Given the description of an element on the screen output the (x, y) to click on. 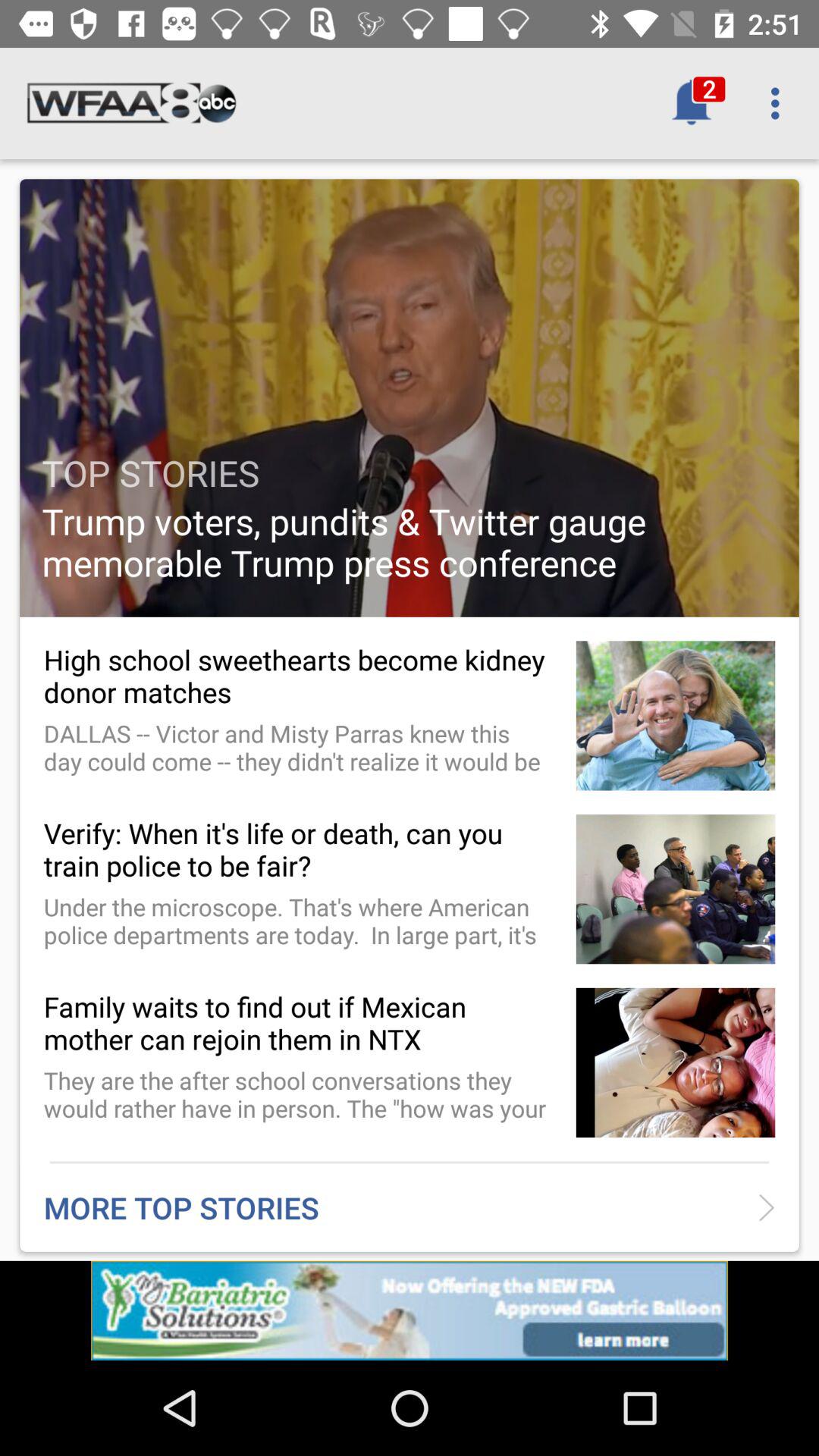
click the item below more top stories icon (409, 1310)
